Given the description of an element on the screen output the (x, y) to click on. 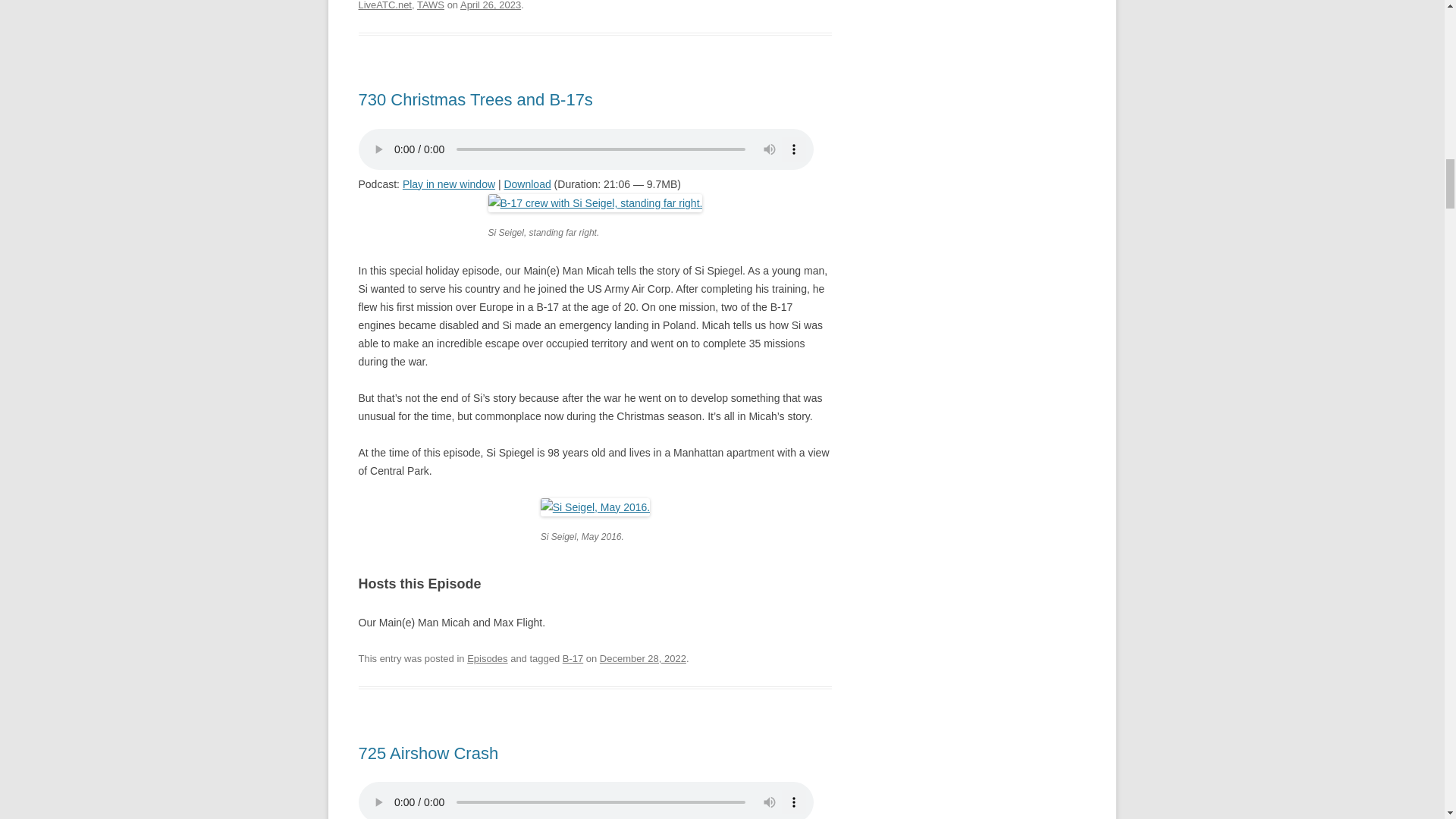
Download (526, 184)
9:06 am (490, 5)
7:50 am (642, 658)
Play in new window (449, 184)
